Given the description of an element on the screen output the (x, y) to click on. 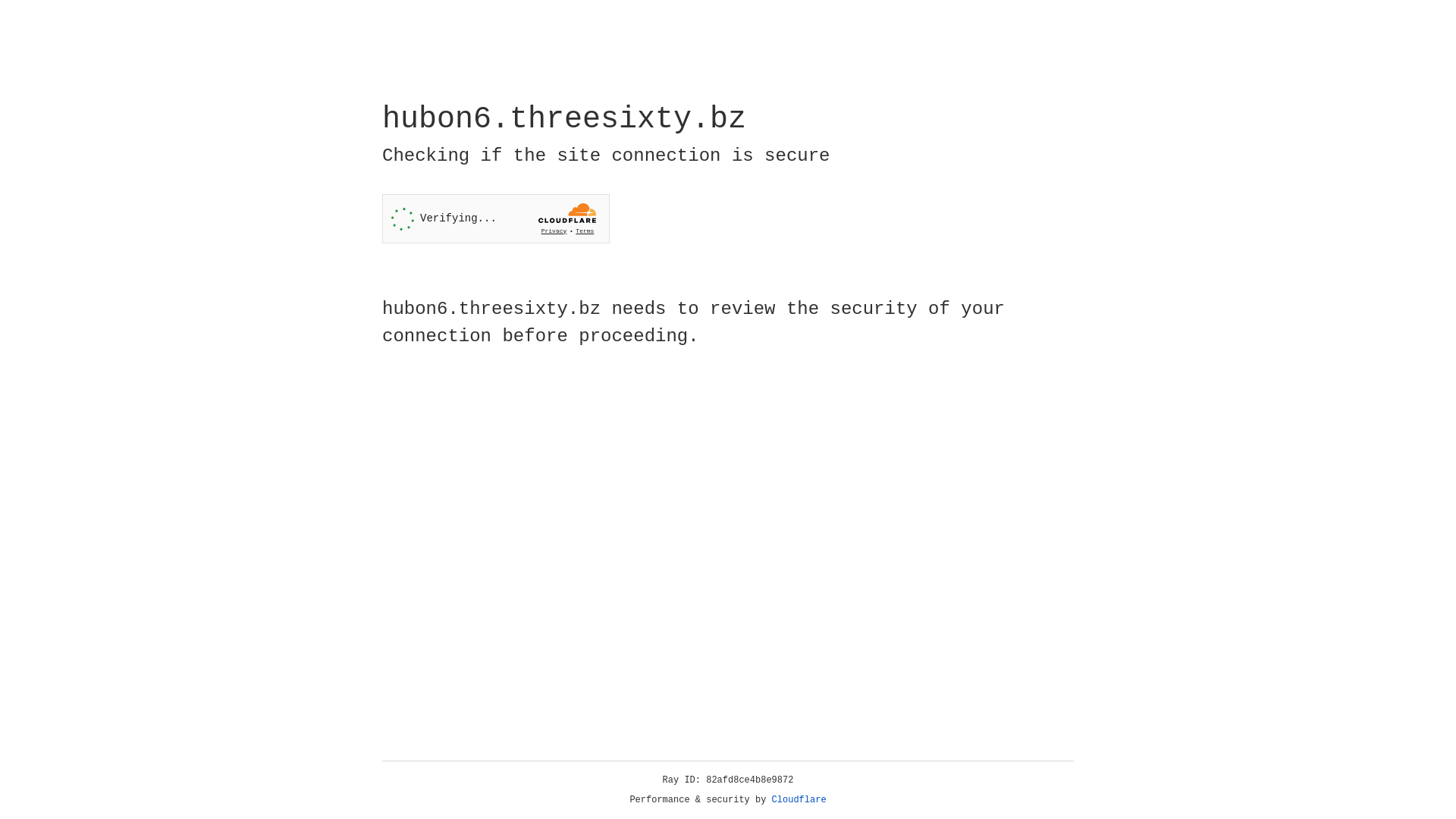
Widget containing a Cloudflare security challenge Element type: hover (495, 218)
Cloudflare Element type: text (798, 799)
